Given the description of an element on the screen output the (x, y) to click on. 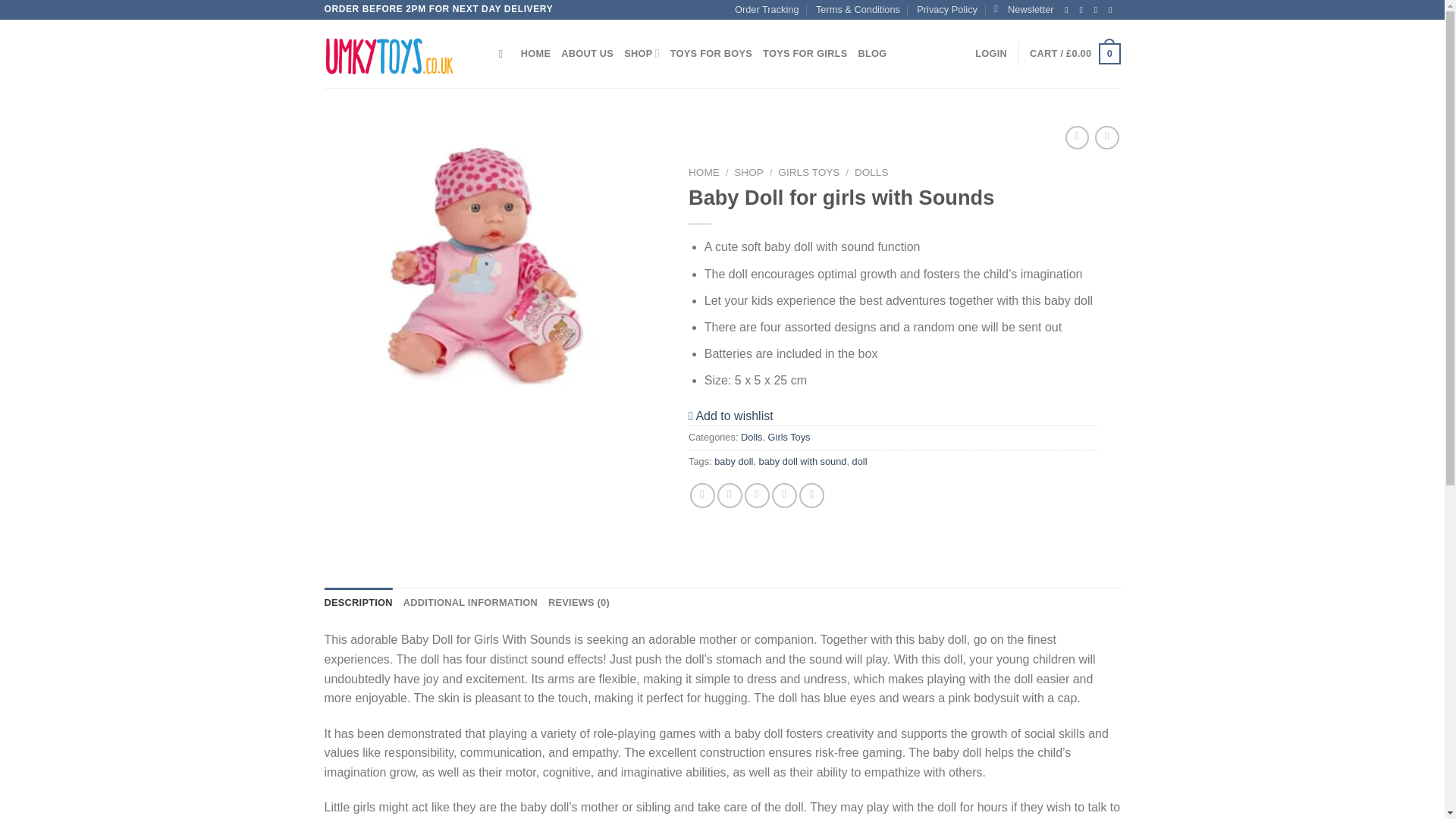
Cart (1074, 53)
HOME (535, 53)
Privacy Policy (946, 9)
SHOP (641, 53)
ABOUT US (586, 53)
Newsletter (1023, 9)
Order Tracking (767, 9)
UMKYTOYS - Toys For Everyone (400, 53)
